Given the description of an element on the screen output the (x, y) to click on. 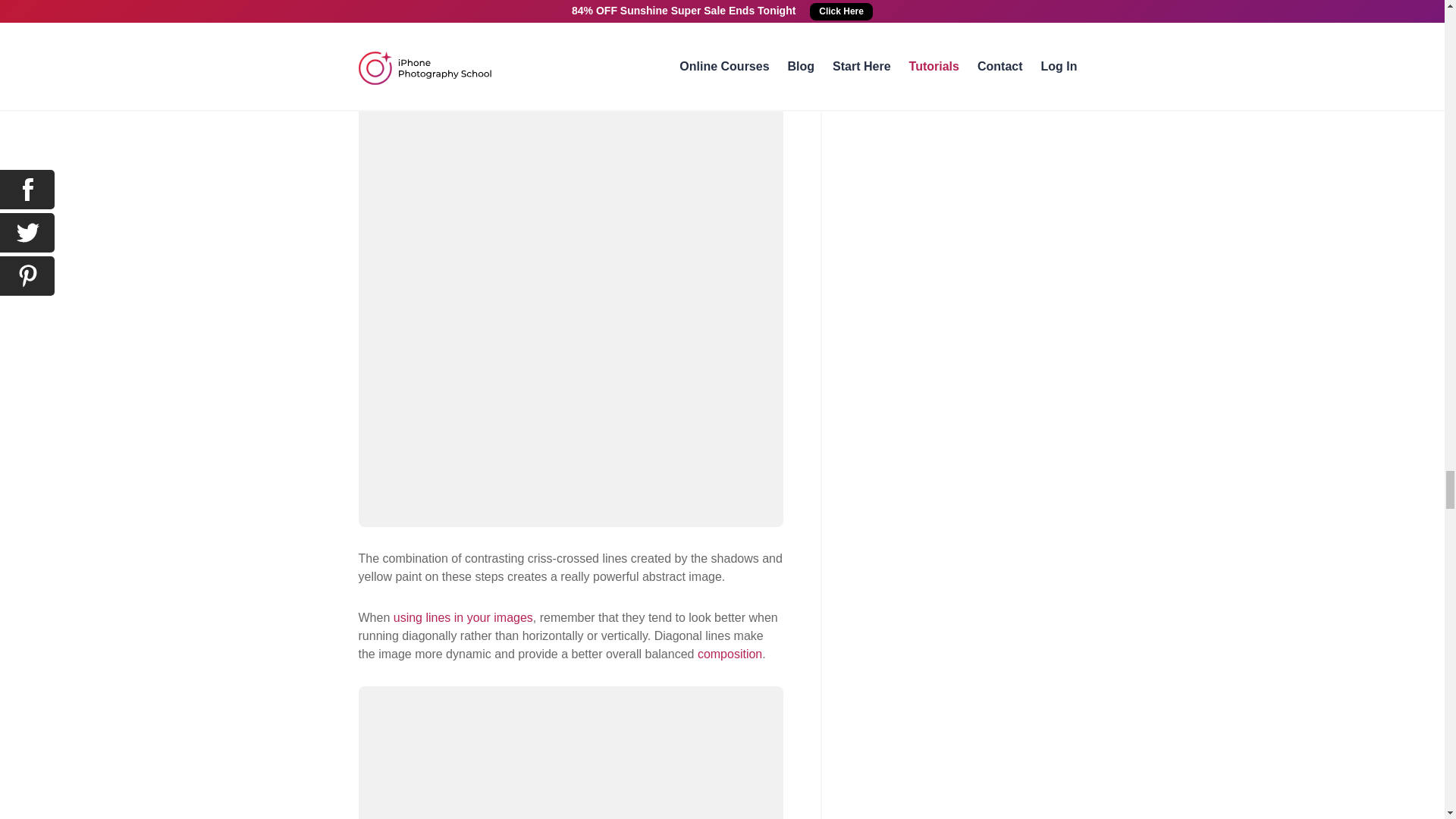
How to Use Lines in Your iPhone Photography (462, 617)
using lines in your images (462, 617)
10 Composition Tips For Taking Better iPhone Photos (729, 653)
composition (729, 653)
